Given the description of an element on the screen output the (x, y) to click on. 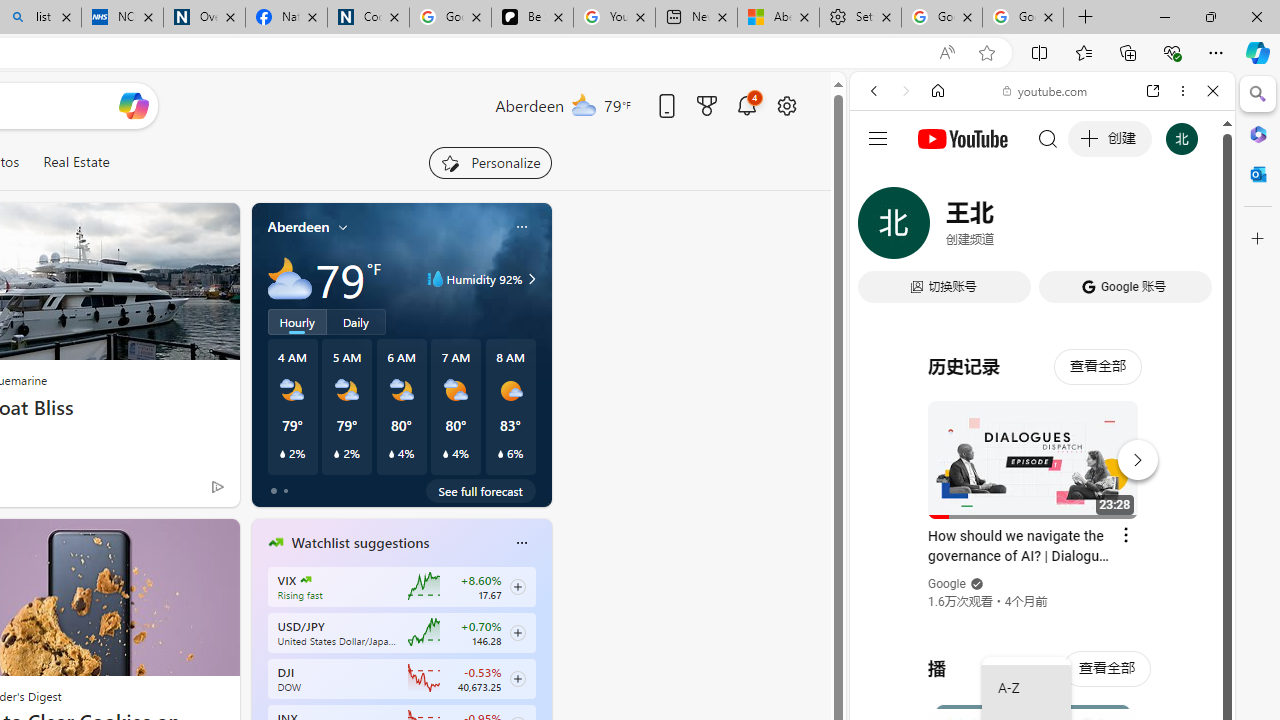
Watchlist suggestions (360, 543)
Trailer #2 [HD] (1042, 592)
Class: icon-img (521, 542)
Humidity 92% (529, 278)
Cookies (368, 17)
